Given the description of an element on the screen output the (x, y) to click on. 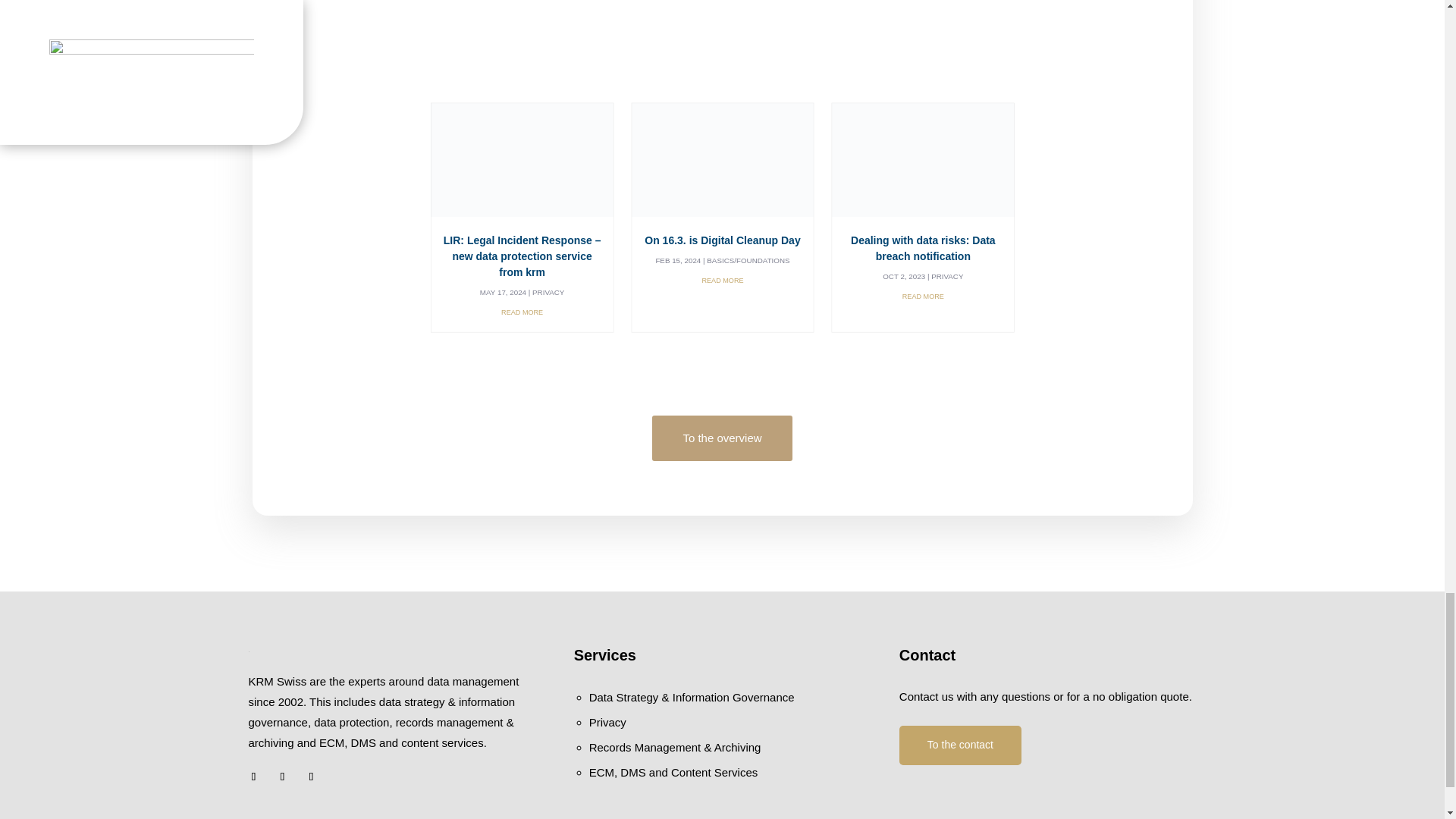
Follow on LinkedIn (282, 775)
Follow on Youtube (311, 775)
Follow on X (253, 775)
